Given the description of an element on the screen output the (x, y) to click on. 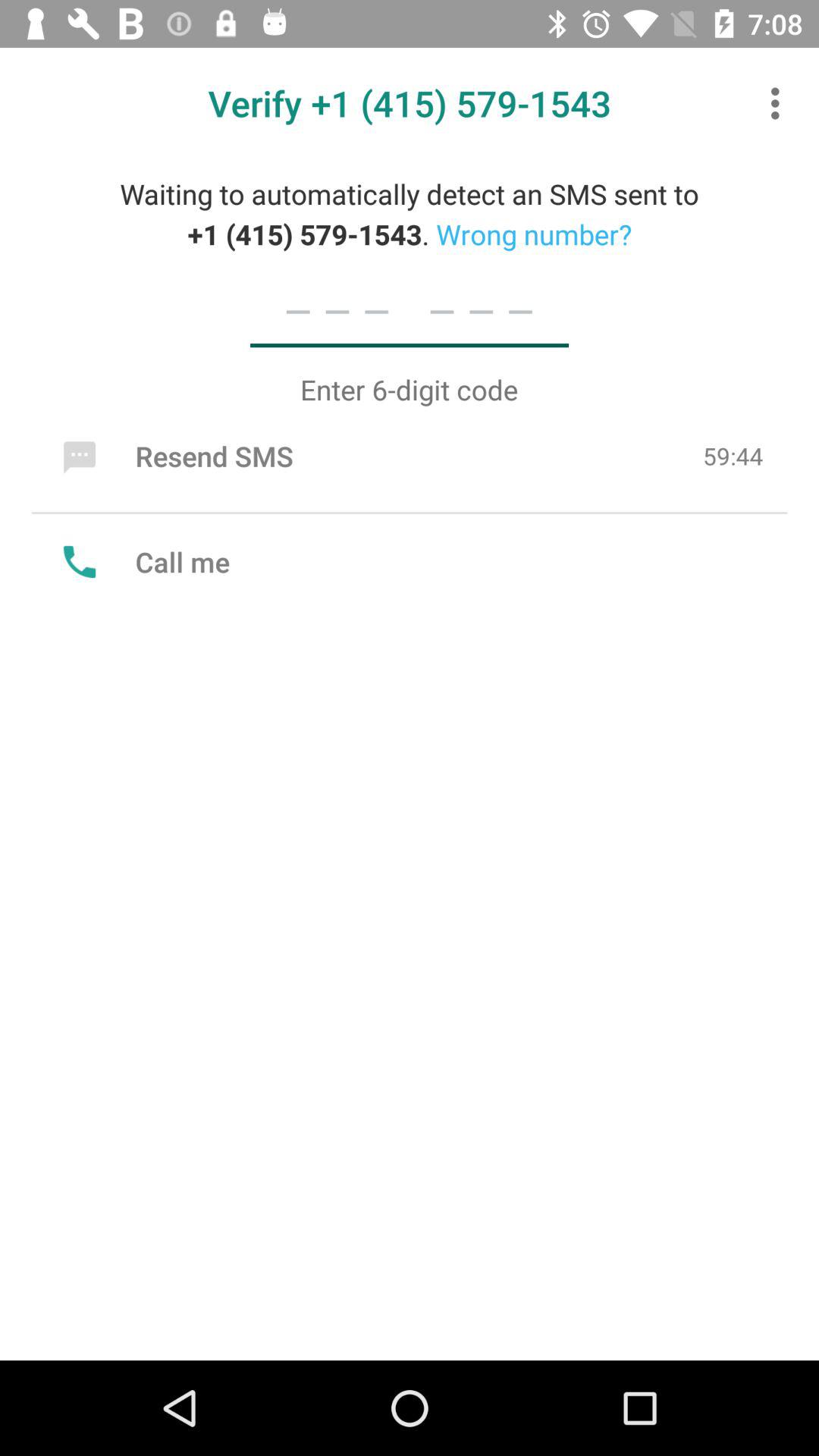
select the icon below the enter 6 digit (174, 455)
